Given the description of an element on the screen output the (x, y) to click on. 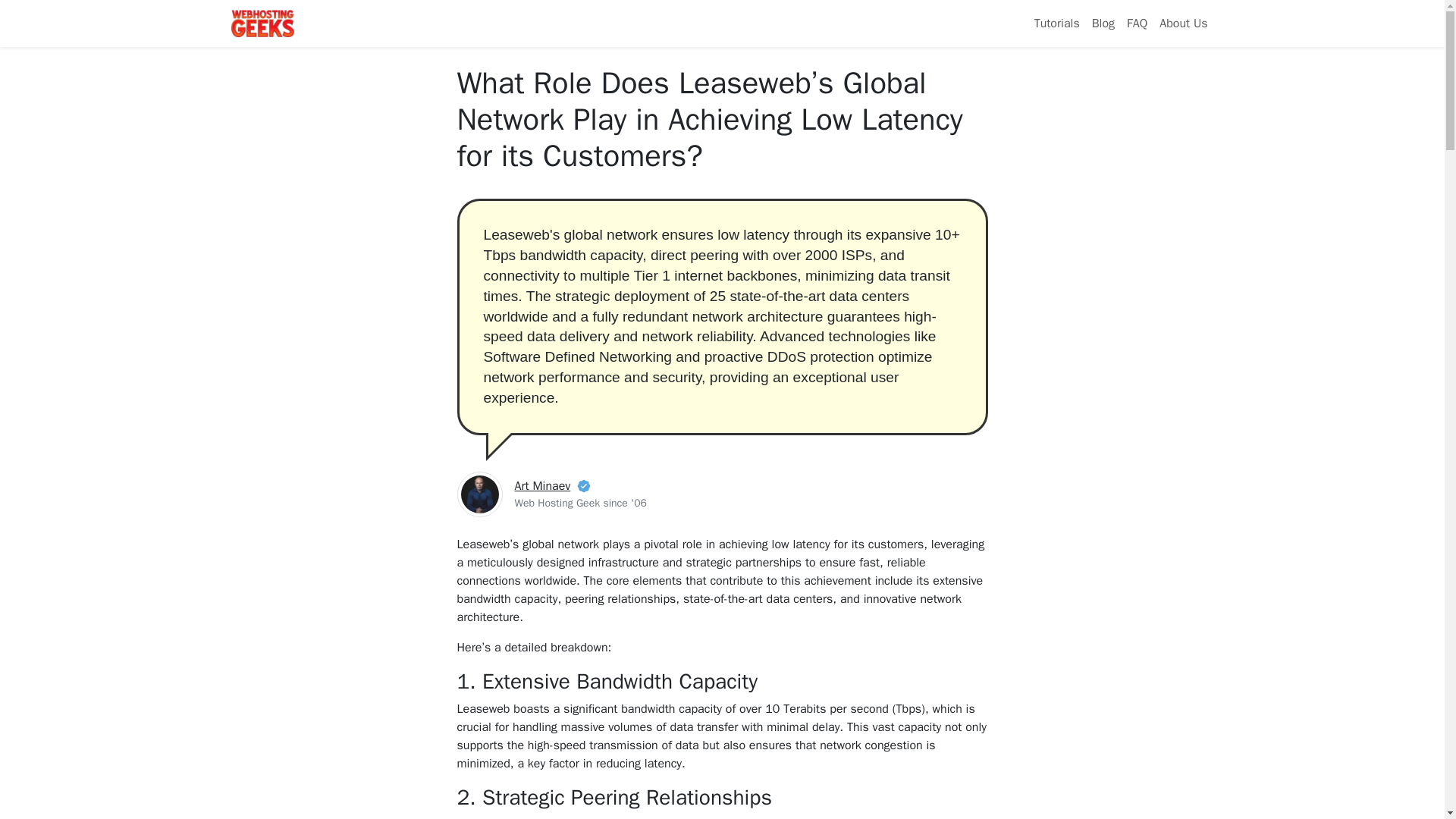
FAQ (1137, 23)
Blog (1103, 23)
Blog (1103, 23)
Tutorials (1056, 23)
Art Minaev (541, 485)
About Us (1182, 23)
FAQ (1137, 23)
About Us (1182, 23)
Tutorials (1056, 23)
